Given the description of an element on the screen output the (x, y) to click on. 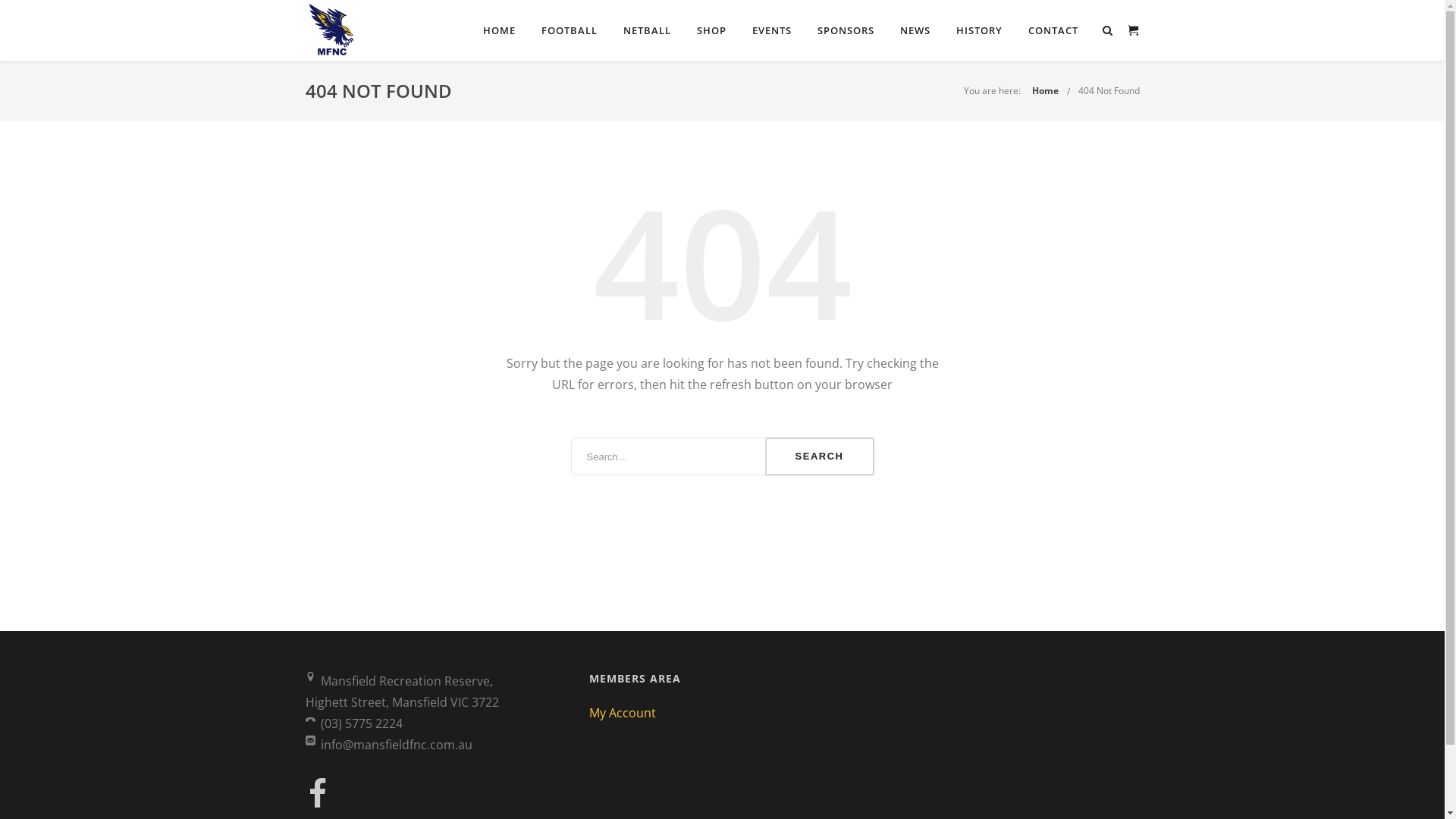
HOME Element type: text (498, 29)
SEARCH Element type: text (819, 456)
CONTACT Element type: text (1053, 29)
My Account Element type: text (622, 712)
NETBALL Element type: text (647, 29)
NEWS Element type: text (914, 29)
FOOTBALL Element type: text (569, 29)
SPONSORS Element type: text (845, 29)
HISTORY Element type: text (978, 29)
SHOP Element type: text (710, 29)
EVENTS Element type: text (771, 29)
Home Element type: text (1044, 90)
404 Not Found Element type: text (1108, 90)
